Given the description of an element on the screen output the (x, y) to click on. 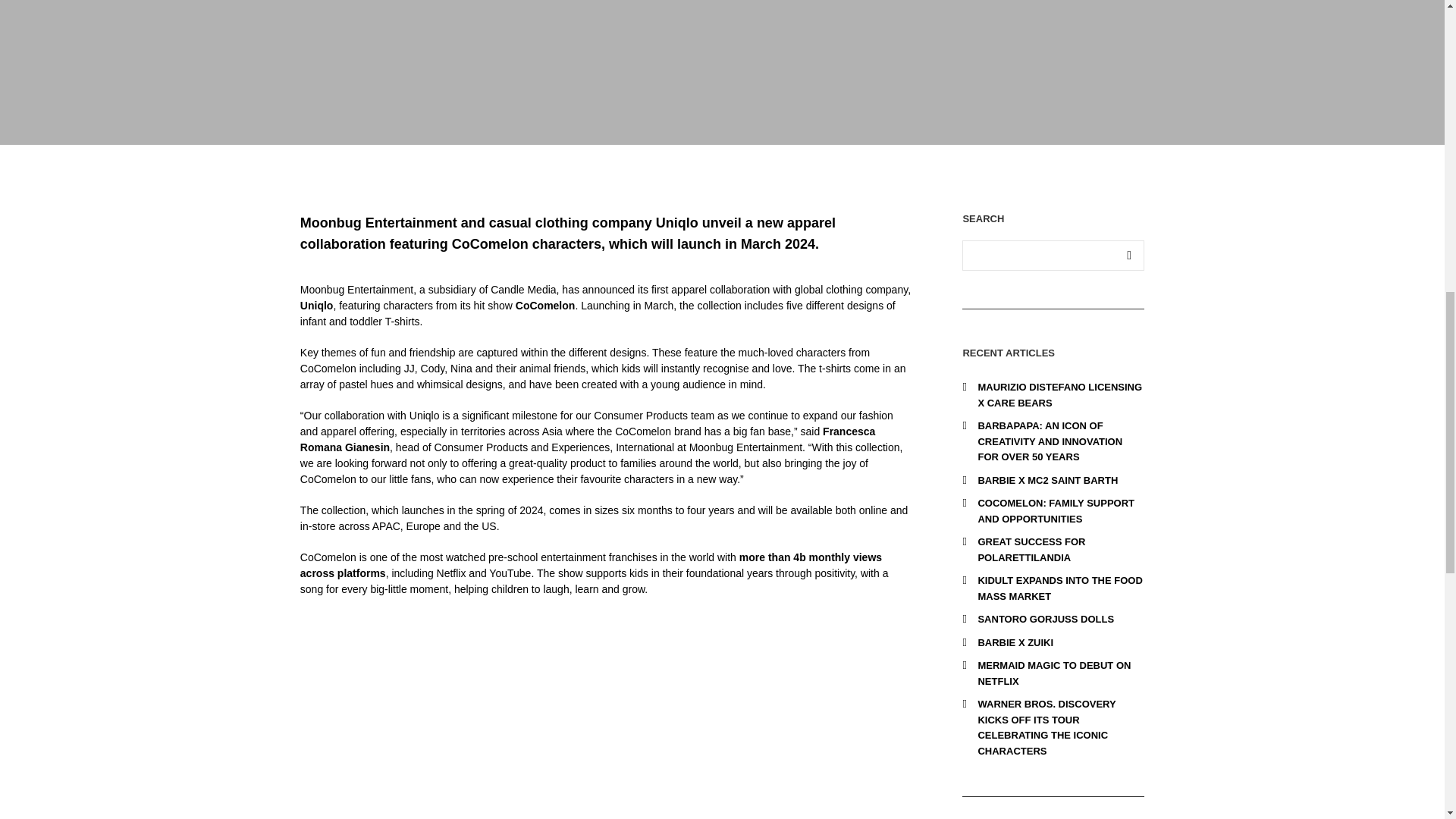
BARBIE X MC2 SAINT BARTH (1047, 480)
COCOMELON: FAMILY SUPPORT AND OPPORTUNITIES (1055, 510)
Search (1128, 255)
BARBIE X ZUIKI (1014, 642)
SANTORO GORJUSS DOLLS (1044, 618)
Search (1128, 255)
MAURIZIO DISTEFANO LICENSING X CARE BEARS (1058, 394)
Search (1128, 255)
MERMAID MAGIC TO DEBUT ON NETFLIX (1053, 673)
GREAT SUCCESS FOR POLARETTILANDIA (1030, 549)
KIDULT EXPANDS INTO THE FOOD MASS MARKET (1058, 587)
